Given the description of an element on the screen output the (x, y) to click on. 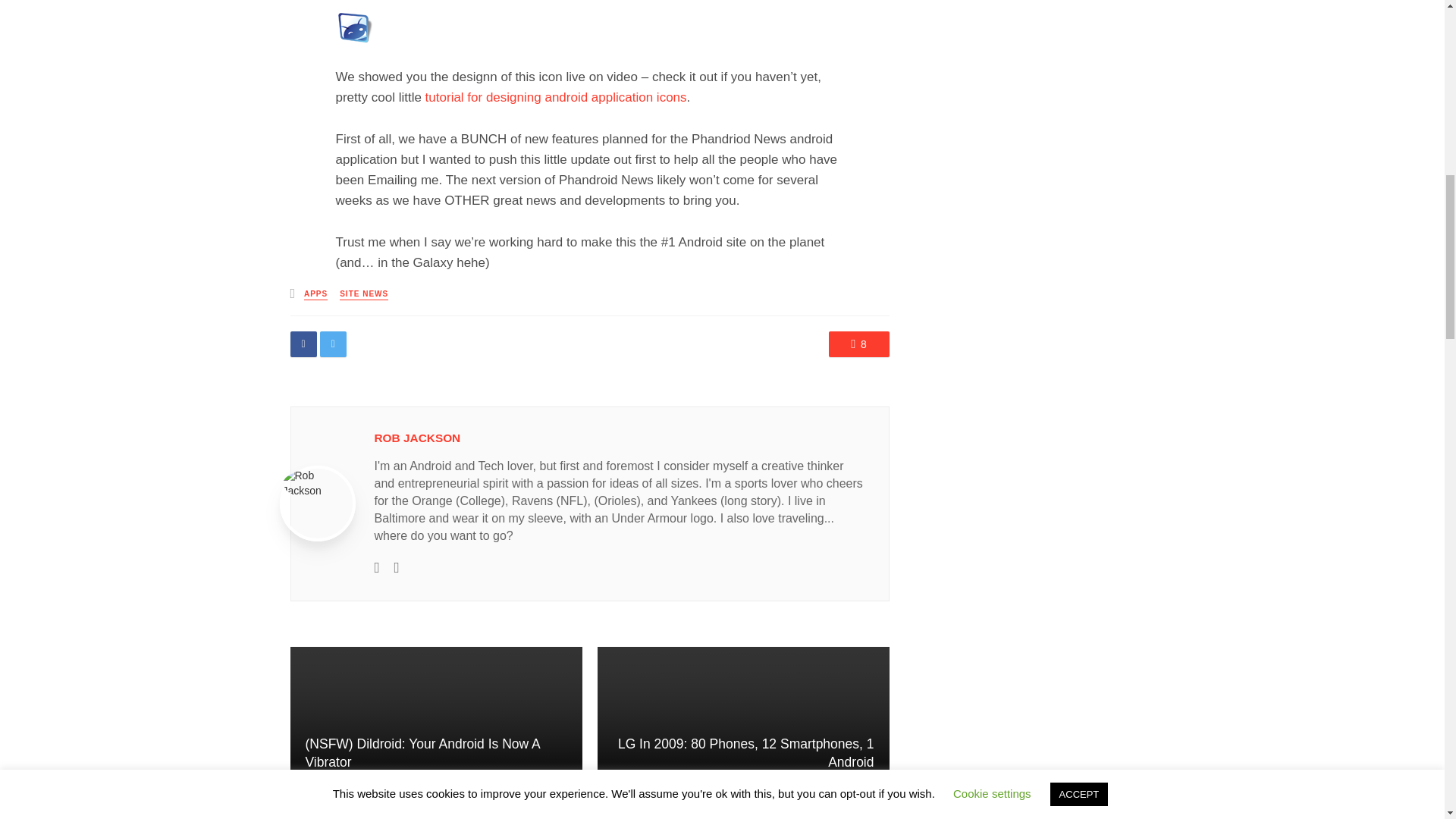
8 (858, 344)
tutorial for designing android application icons (556, 97)
PREVIOUS ARTICLE (434, 797)
SITE NEWS (363, 294)
ROB JACKSON (417, 437)
APPS (315, 294)
Posts by Rob Jackson (417, 437)
phandroid-app-icon1 (352, 27)
